Given the description of an element on the screen output the (x, y) to click on. 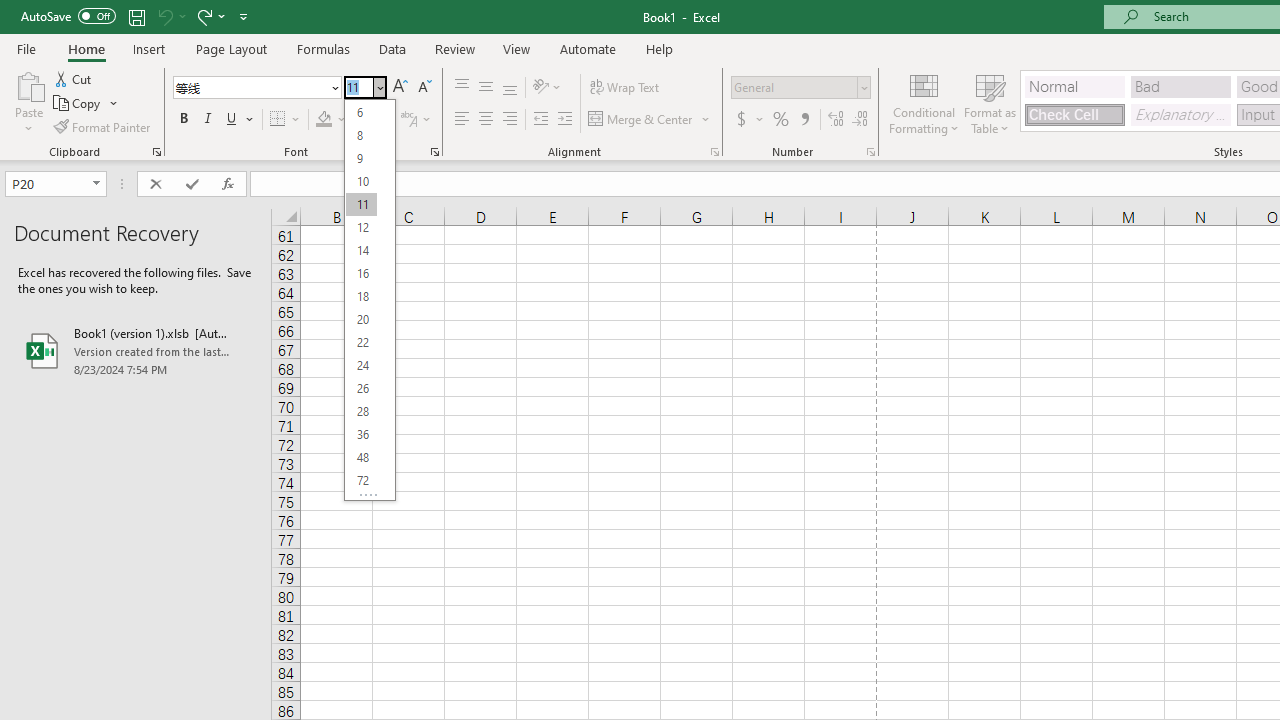
10 (361, 180)
9 (361, 157)
Comma Style (804, 119)
Format Cell Alignment (714, 151)
22 (361, 342)
Check Cell (1074, 114)
6 (361, 111)
Show Phonetic Field (416, 119)
Decrease Font Size (424, 87)
12 (361, 227)
